Given the description of an element on the screen output the (x, y) to click on. 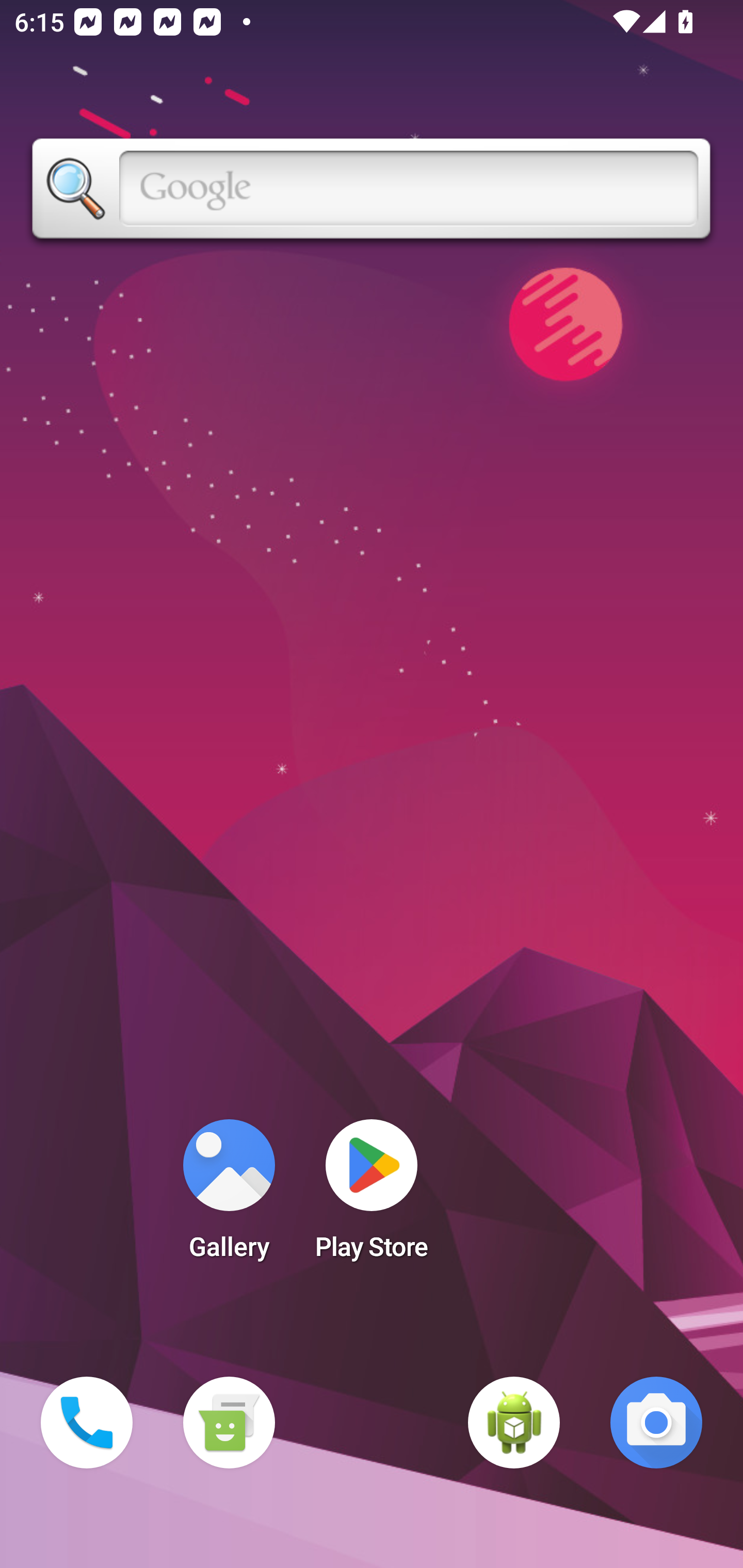
Gallery (228, 1195)
Play Store (371, 1195)
Phone (86, 1422)
Messaging (228, 1422)
WebView Browser Tester (513, 1422)
Camera (656, 1422)
